Given the description of an element on the screen output the (x, y) to click on. 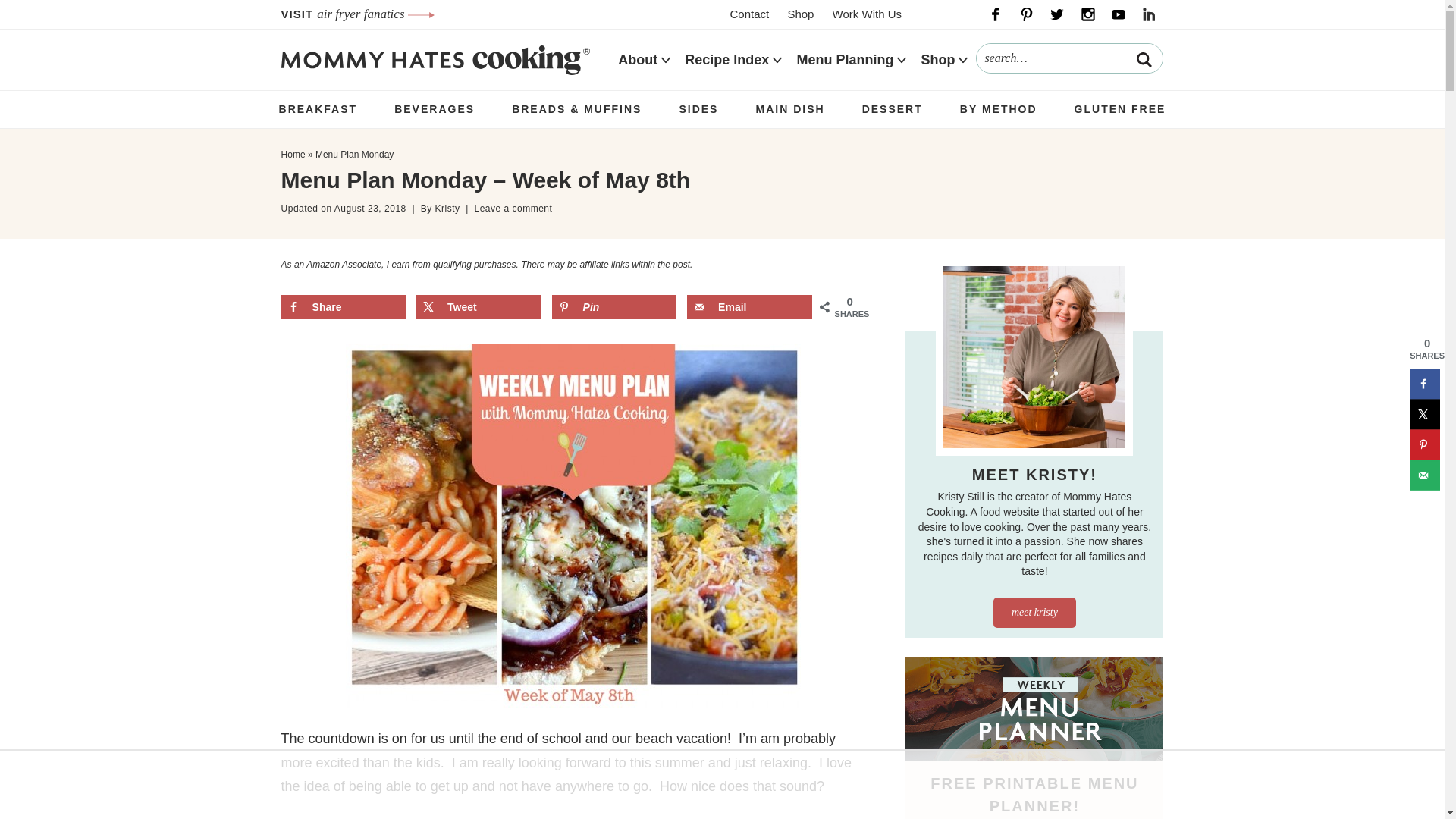
Contact (749, 13)
Save to Pinterest (614, 306)
Shop (799, 13)
Work With Us (866, 13)
Send over email (1424, 474)
Share on X (478, 306)
Search for (1068, 58)
Recipe Index (727, 59)
MOMMY HATES COOKING (435, 59)
Save to Pinterest (1424, 444)
